Given the description of an element on the screen output the (x, y) to click on. 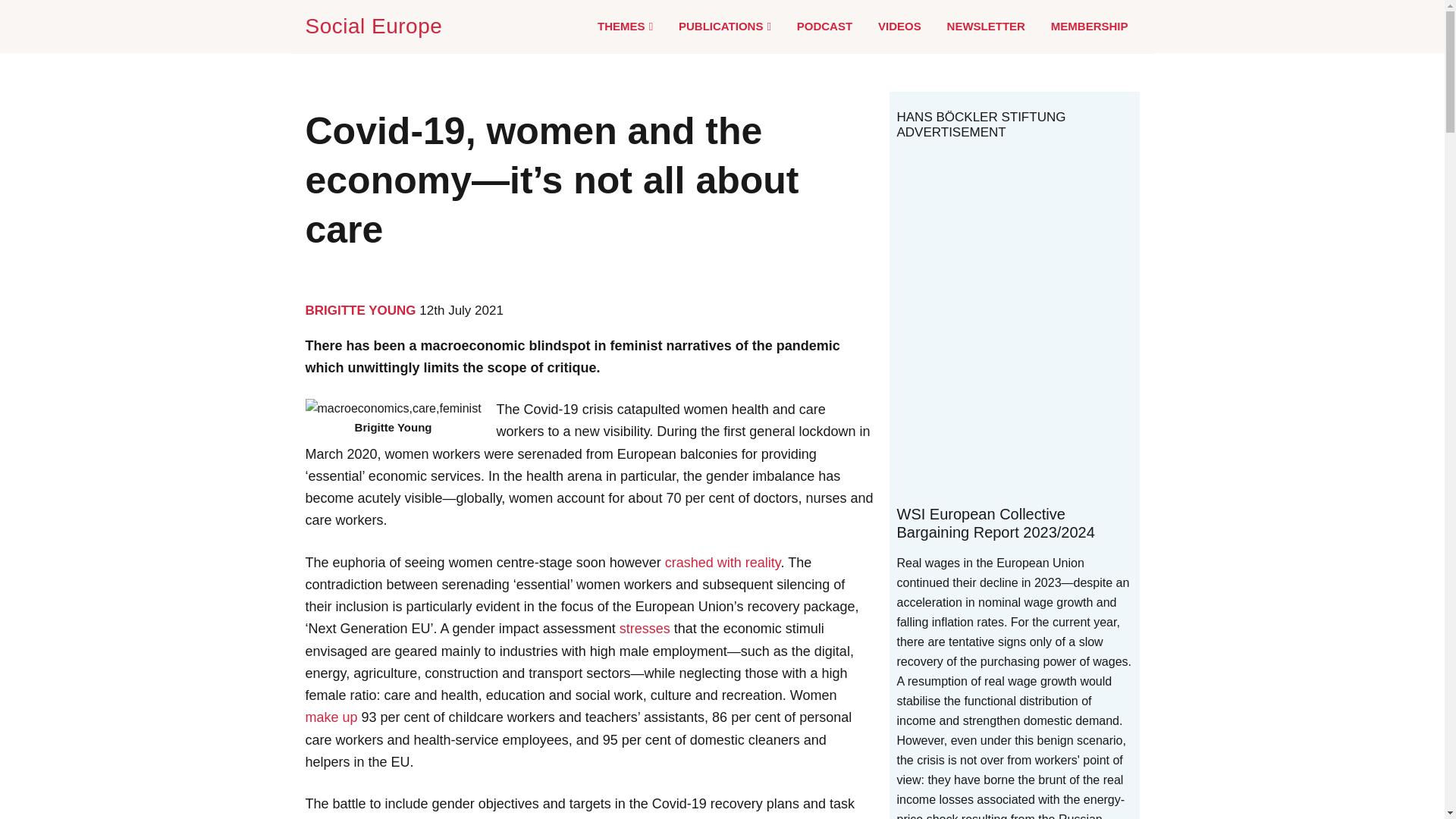
THEMES (624, 26)
PUBLICATIONS (724, 26)
MEMBERSHIP (1089, 25)
NEWSLETTER (986, 25)
PODCAST (824, 25)
VIDEOS (899, 25)
make up (330, 717)
crashed with reality (722, 562)
BRIGITTE YOUNG (359, 310)
Social Europe (376, 26)
